Given the description of an element on the screen output the (x, y) to click on. 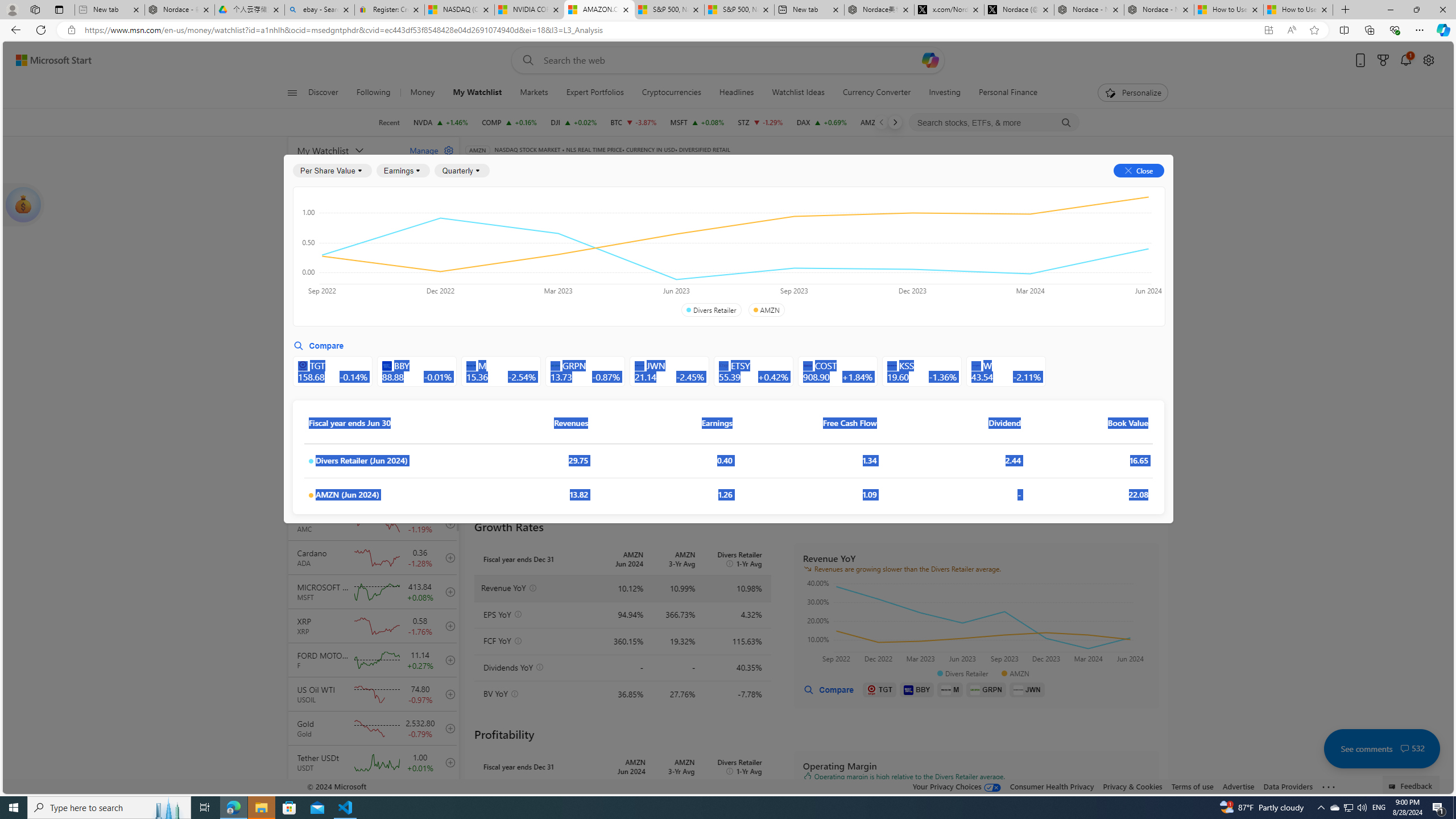
Expert Portfolios (595, 92)
Investing (944, 92)
Enter your search term (730, 59)
JWN (1027, 689)
Skip to content (49, 59)
Notifications (1405, 60)
Expert Portfolios (594, 92)
Web search (526, 60)
Your Privacy Choices (956, 786)
DAX DAX increase 18,811.34 +129.53 +0.69% (821, 122)
